Given the description of an element on the screen output the (x, y) to click on. 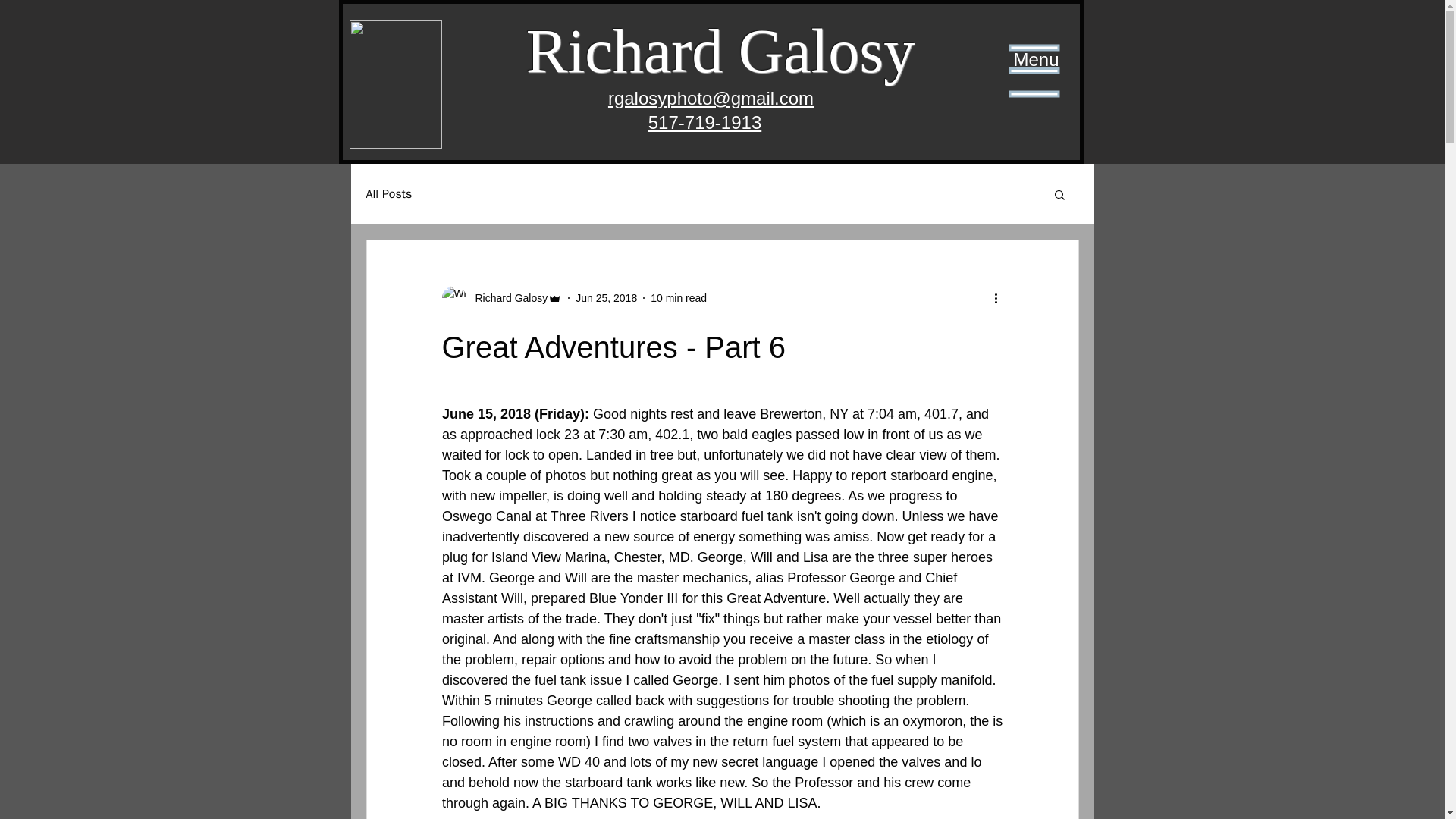
Jun 25, 2018 (606, 297)
517-719-1913 (704, 122)
10 min read (678, 297)
Richard Galosy (506, 297)
All Posts (388, 194)
Richard Galosy (501, 297)
